Given the description of an element on the screen output the (x, y) to click on. 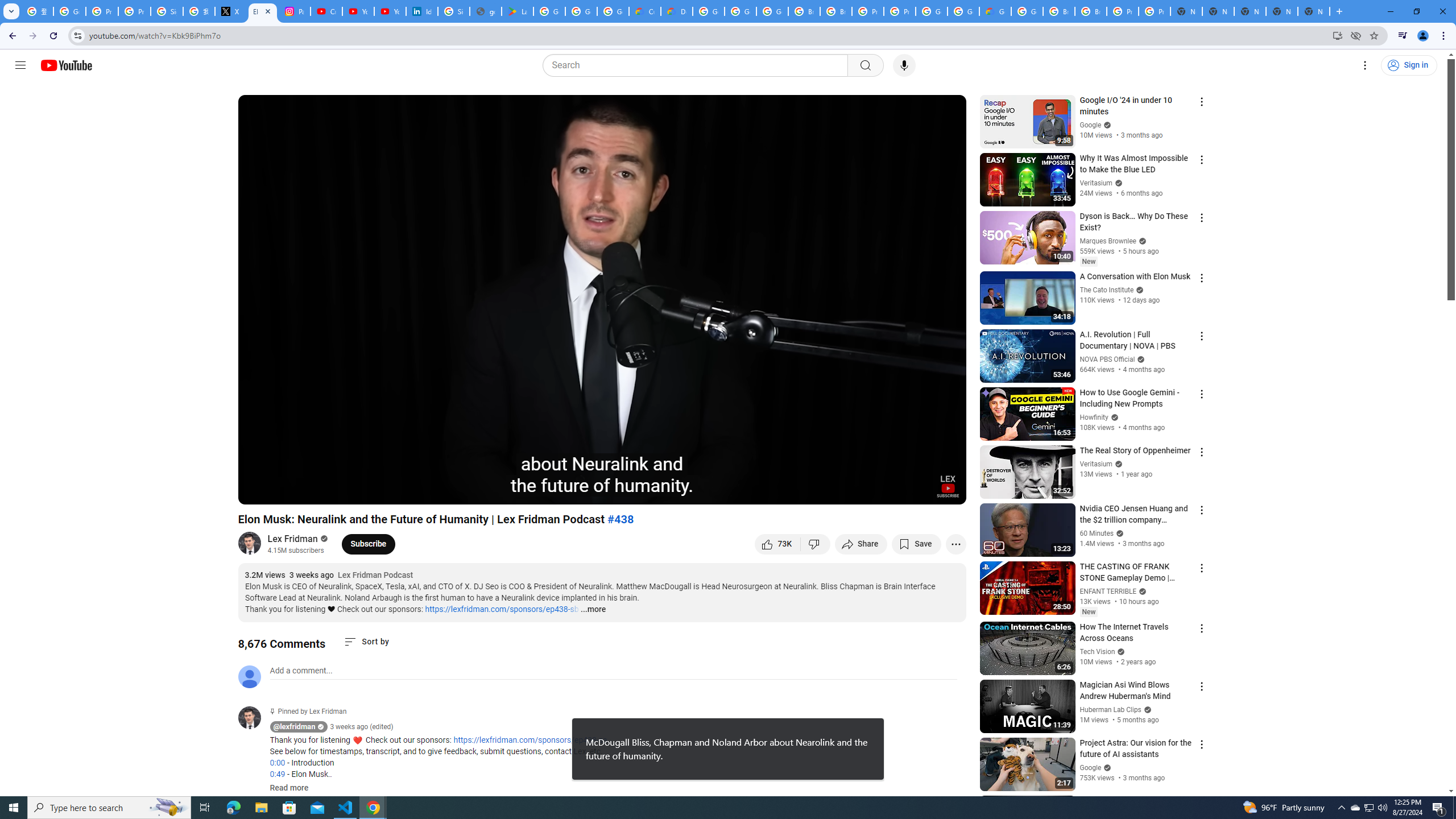
3 weeks ago (edited) (361, 726)
Google Cloud Platform (931, 11)
Install YouTube (1336, 35)
Sign in - Google Accounts (166, 11)
0:49 (277, 773)
like this video along with 73,133 other people (777, 543)
Privacy Help Center - Policies Help (134, 11)
